Given the description of an element on the screen output the (x, y) to click on. 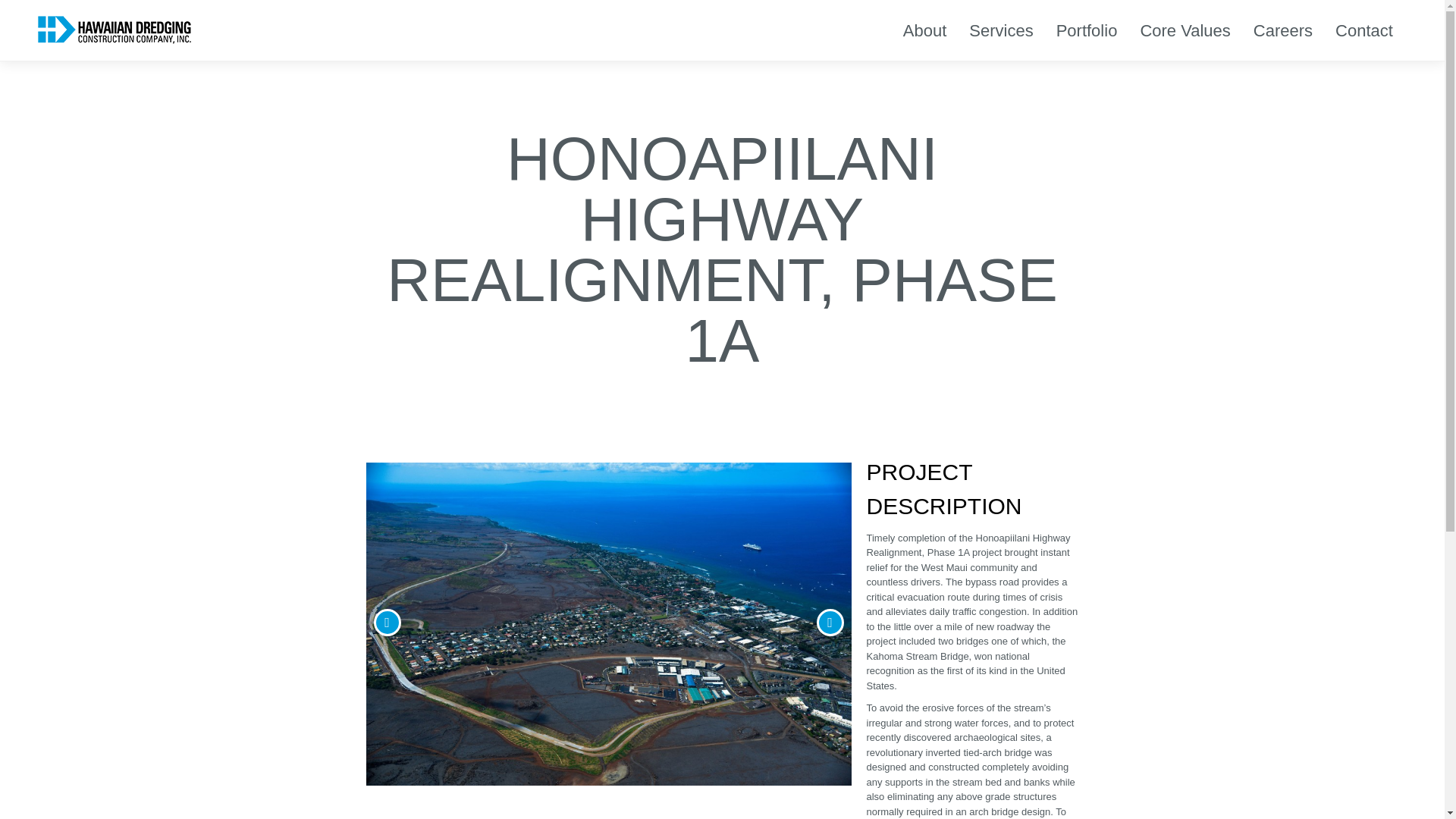
Services (1000, 30)
Contact (1364, 30)
Core Values (1185, 30)
Careers (1283, 30)
About (924, 30)
Portfolio (1087, 30)
